Given the description of an element on the screen output the (x, y) to click on. 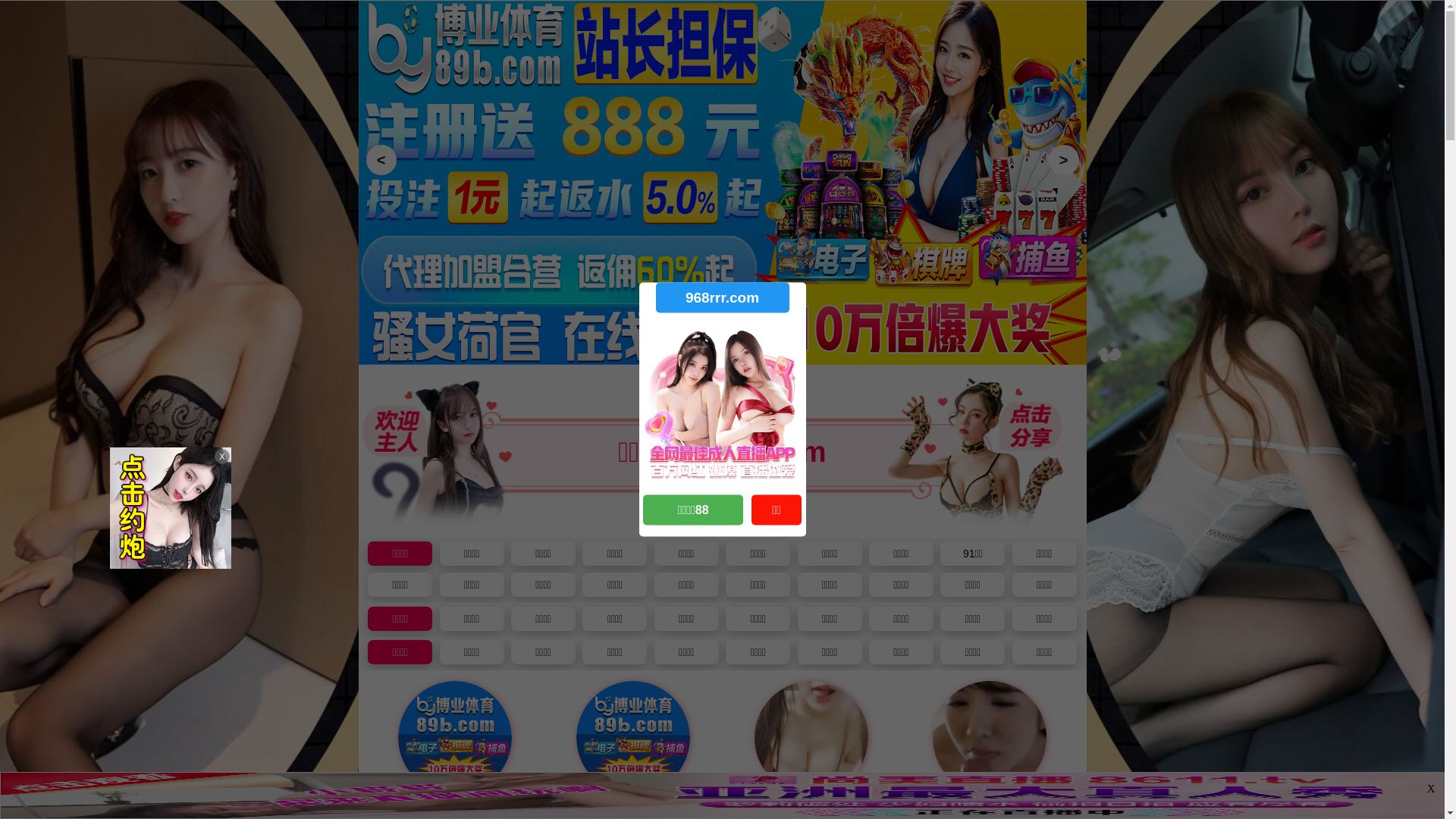
X Element type: text (1430, 789)
968rrr.com Element type: text (721, 297)
> Element type: text (1063, 159)
< Element type: text (380, 159)
